Given the description of an element on the screen output the (x, y) to click on. 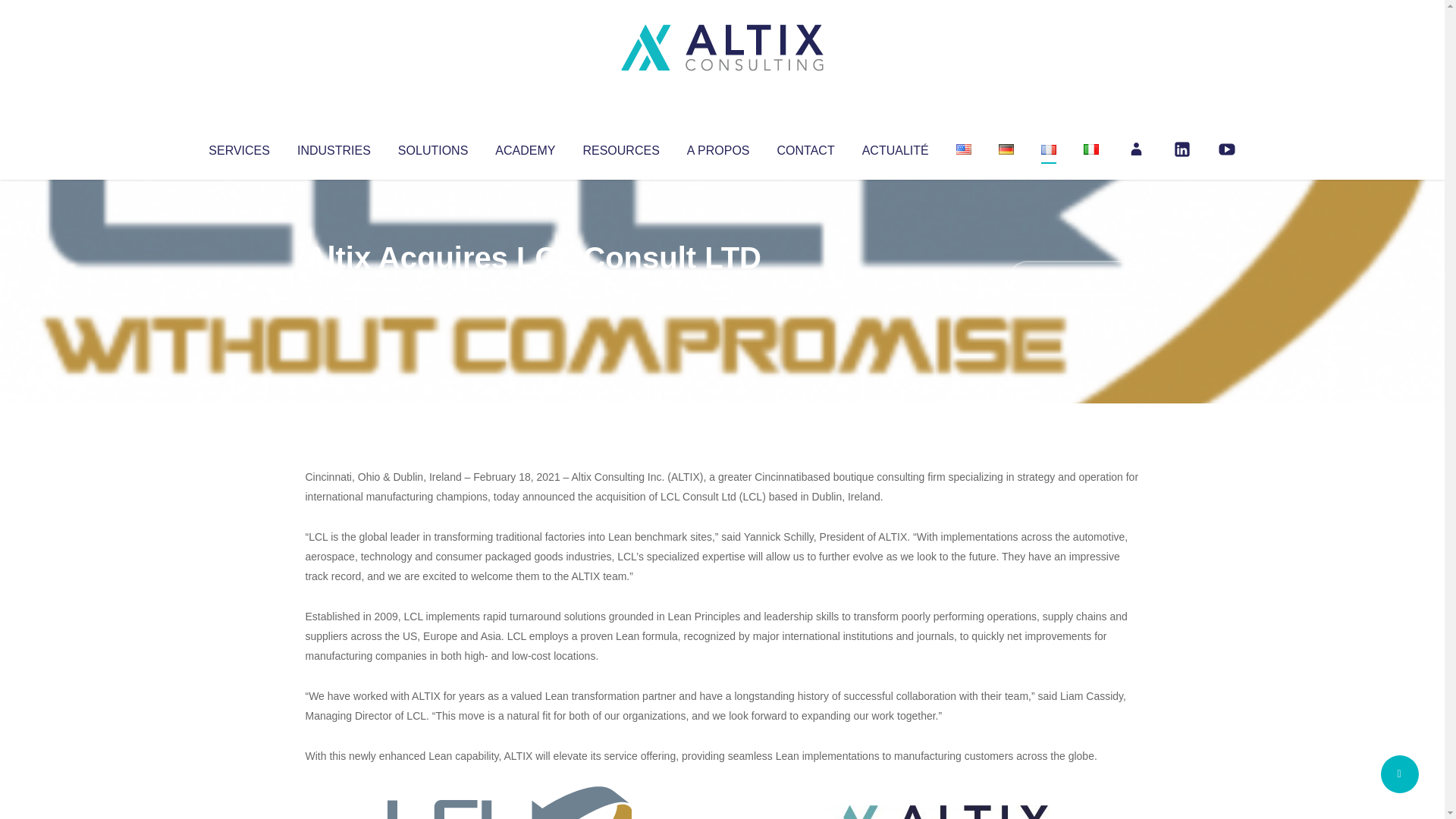
A PROPOS (718, 146)
SERVICES (238, 146)
No Comments (1073, 278)
ACADEMY (524, 146)
RESOURCES (620, 146)
Uncategorized (530, 287)
Articles par Altix (333, 287)
SOLUTIONS (432, 146)
INDUSTRIES (334, 146)
Altix (333, 287)
